Given the description of an element on the screen output the (x, y) to click on. 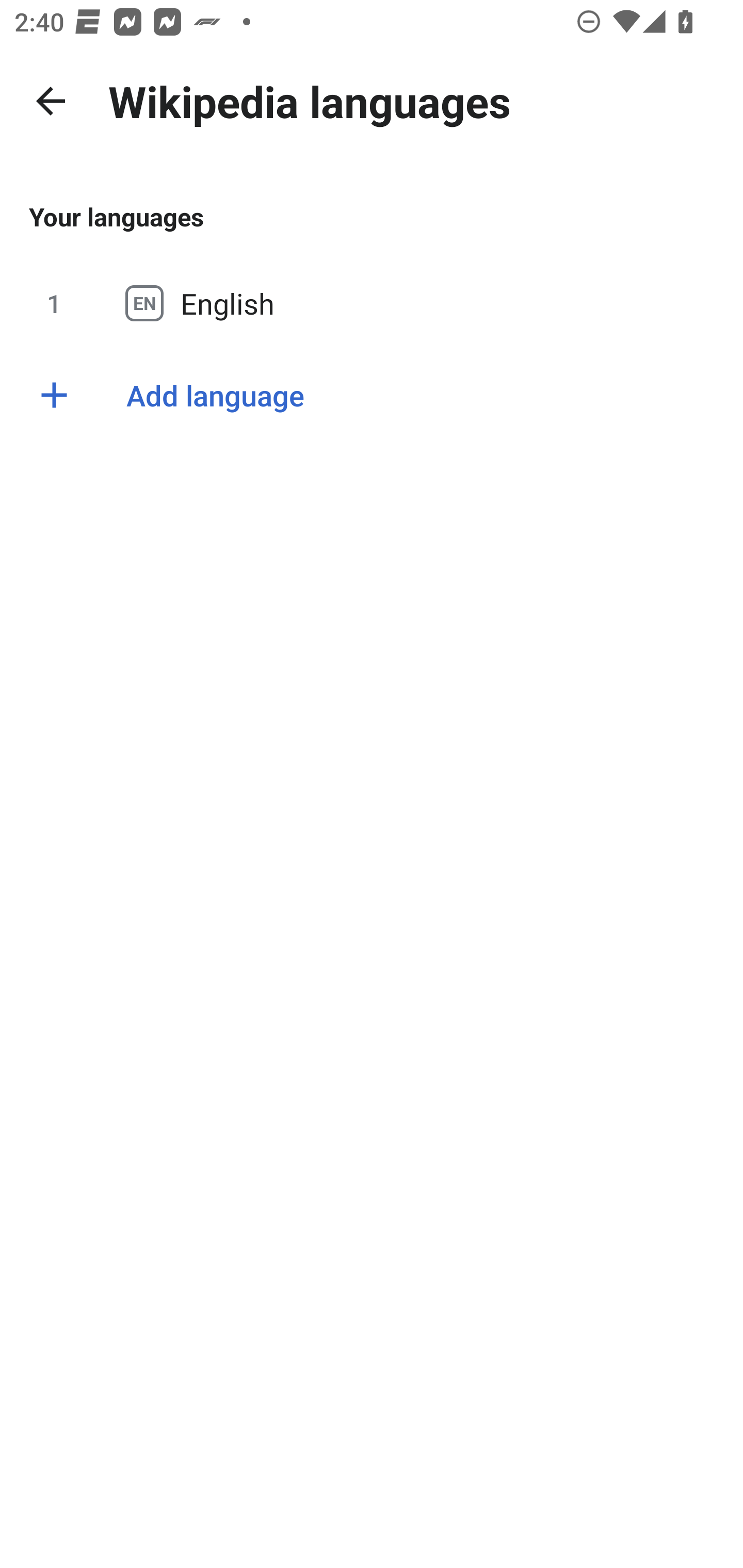
Navigate up (50, 101)
1 EN English (371, 303)
Add language (371, 394)
